Given the description of an element on the screen output the (x, y) to click on. 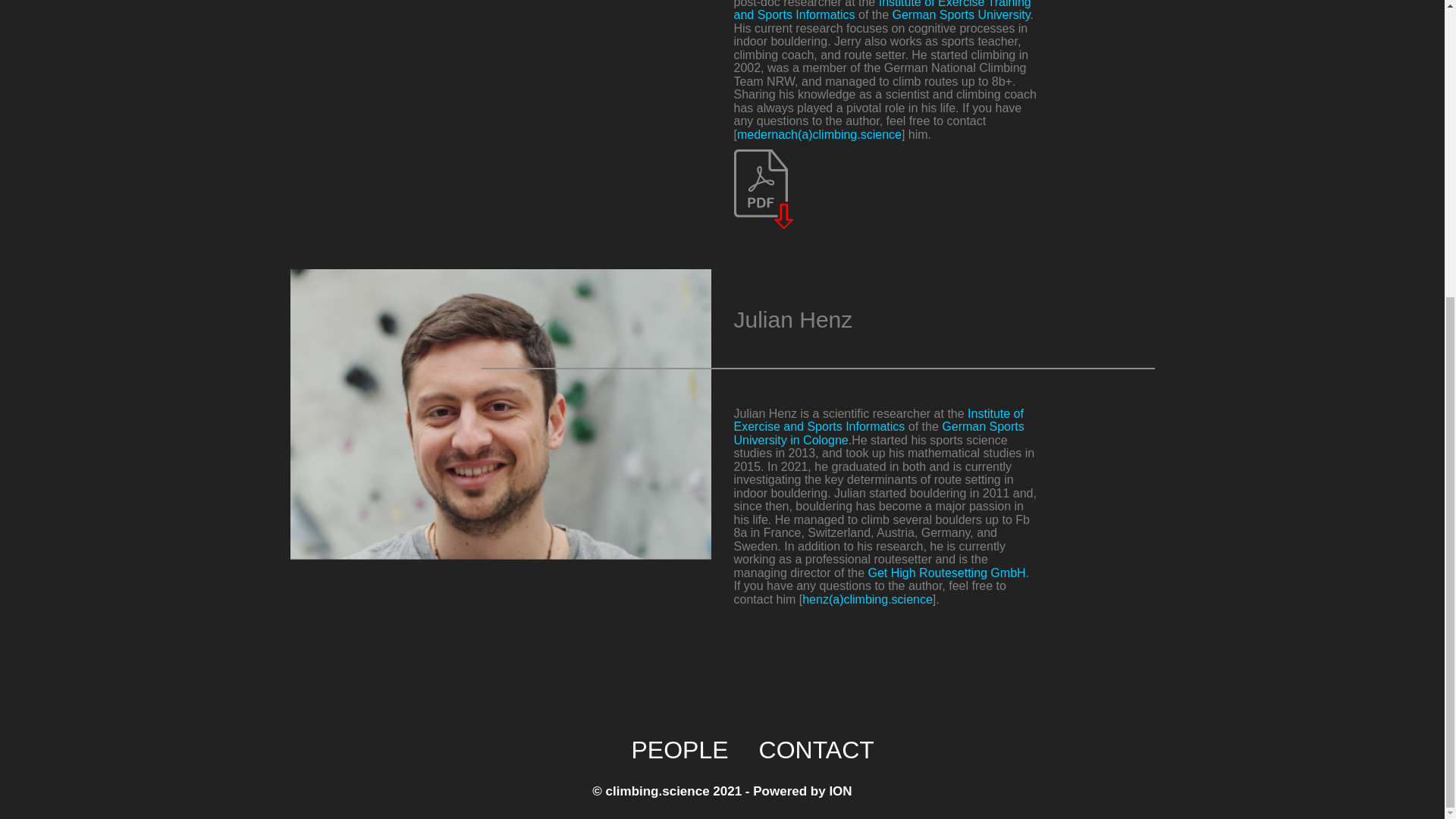
PEOPLE (679, 749)
CONTACT (816, 749)
Institute of Exercise and Sports Informatics (878, 420)
Get High Routesetting GmbH (946, 572)
German Sports University in Cologne (879, 433)
German Sports University (960, 14)
Institute of Exercise Training and Sports Informatics (881, 10)
